Given the description of an element on the screen output the (x, y) to click on. 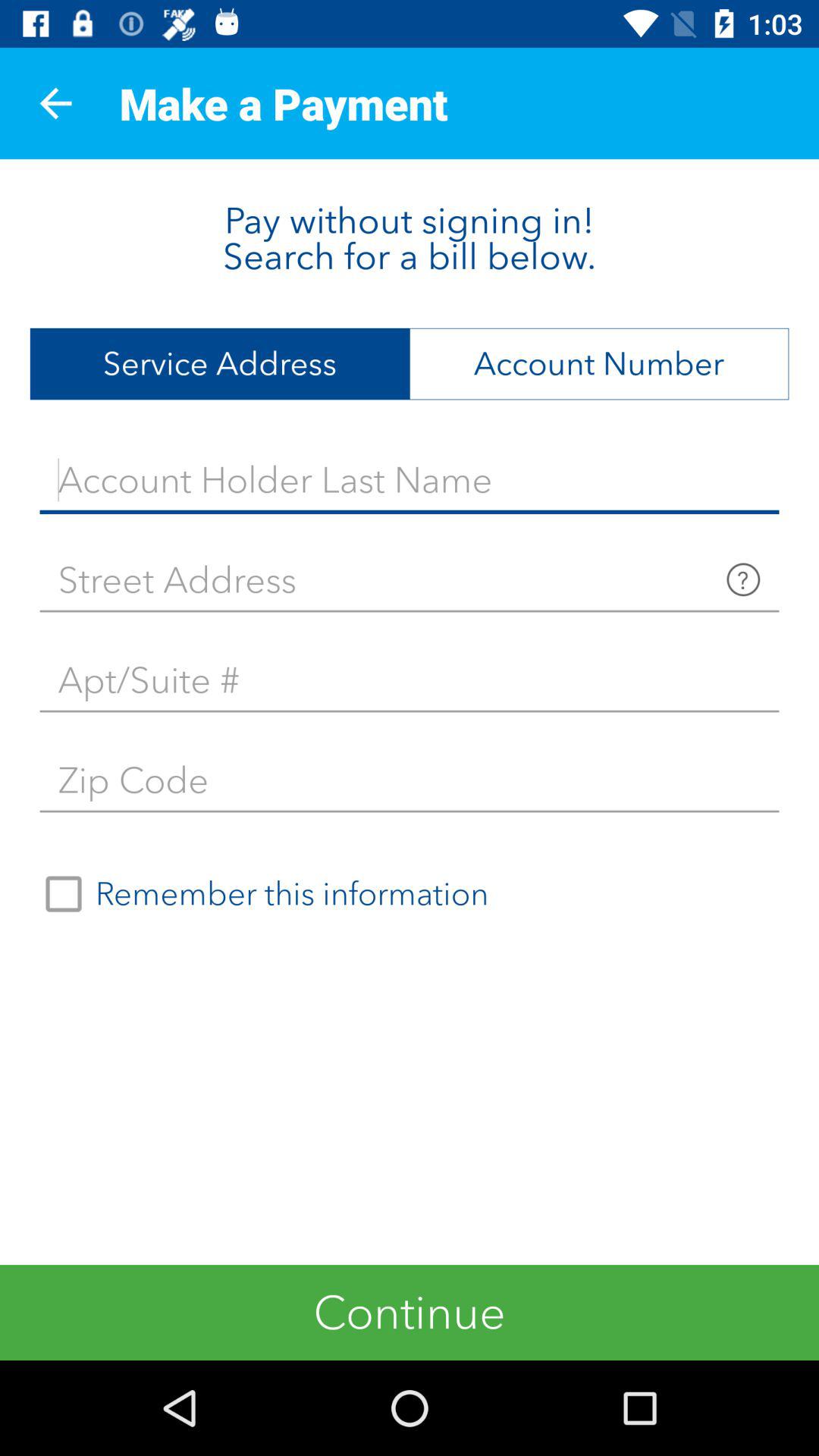
launch the icon to the right of service address item (598, 363)
